Given the description of an element on the screen output the (x, y) to click on. 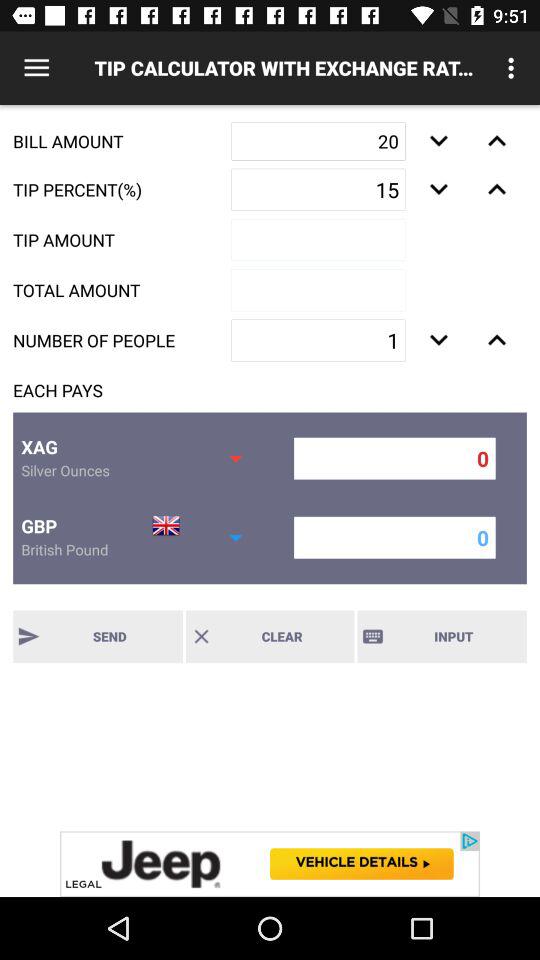
select the text field below 20 (318, 189)
click on send button along with text send (97, 636)
click on the 1st down arrow button (438, 140)
down arrow side to second text box (438, 189)
click on text box mark 20 beside bill amount (318, 141)
click on the second button right to 20 (496, 140)
